Given the description of an element on the screen output the (x, y) to click on. 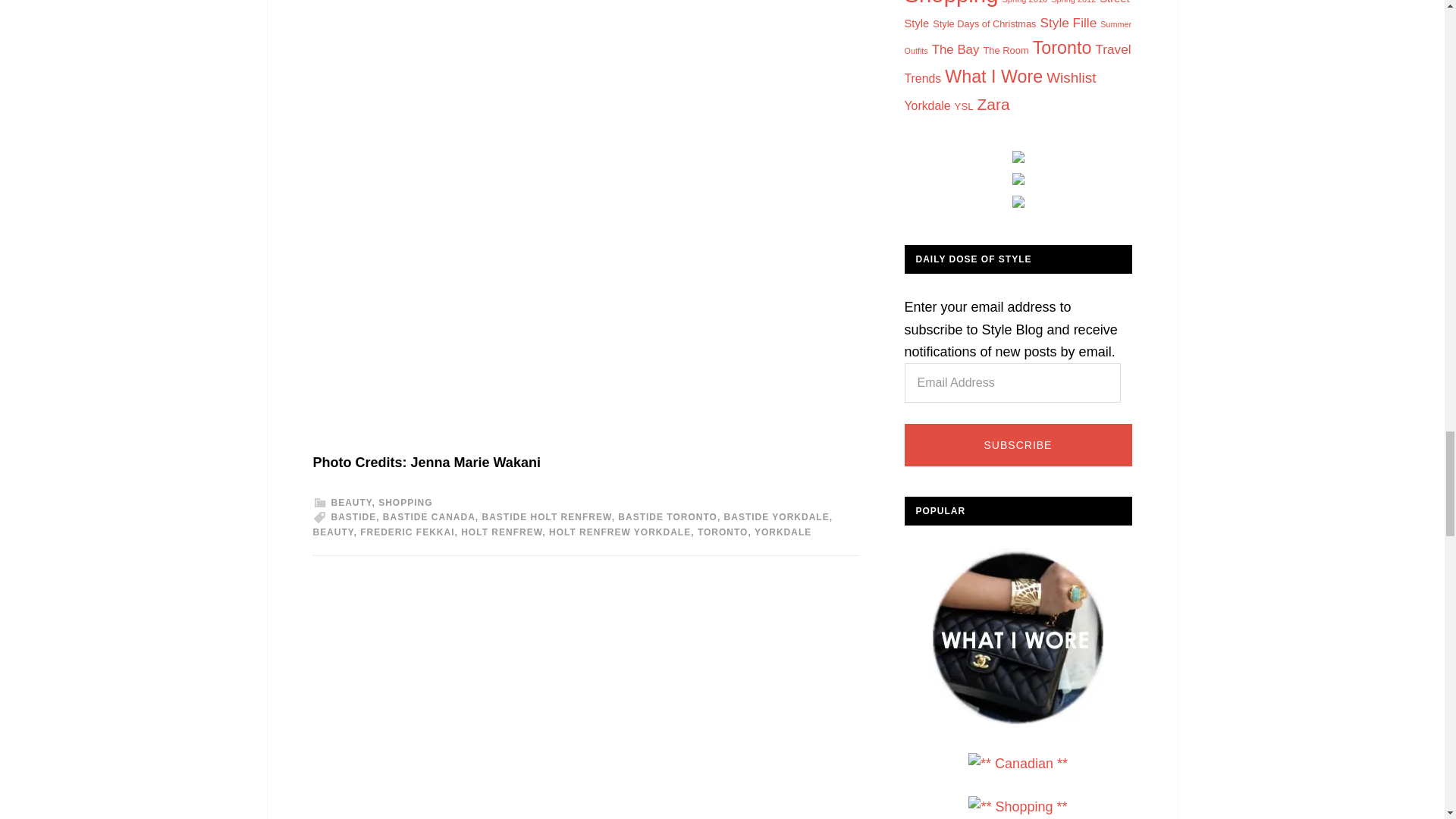
BEAUTY (350, 502)
FREDERIC FEKKAI (406, 532)
BASTIDE HOLT RENFREW (546, 516)
SHOPPING (405, 502)
BASTIDE (352, 516)
YORKDALE (782, 532)
BASTIDE CANADA (429, 516)
TORONTO (722, 532)
HOLT RENFREW (501, 532)
BASTIDE TORONTO (667, 516)
